Given the description of an element on the screen output the (x, y) to click on. 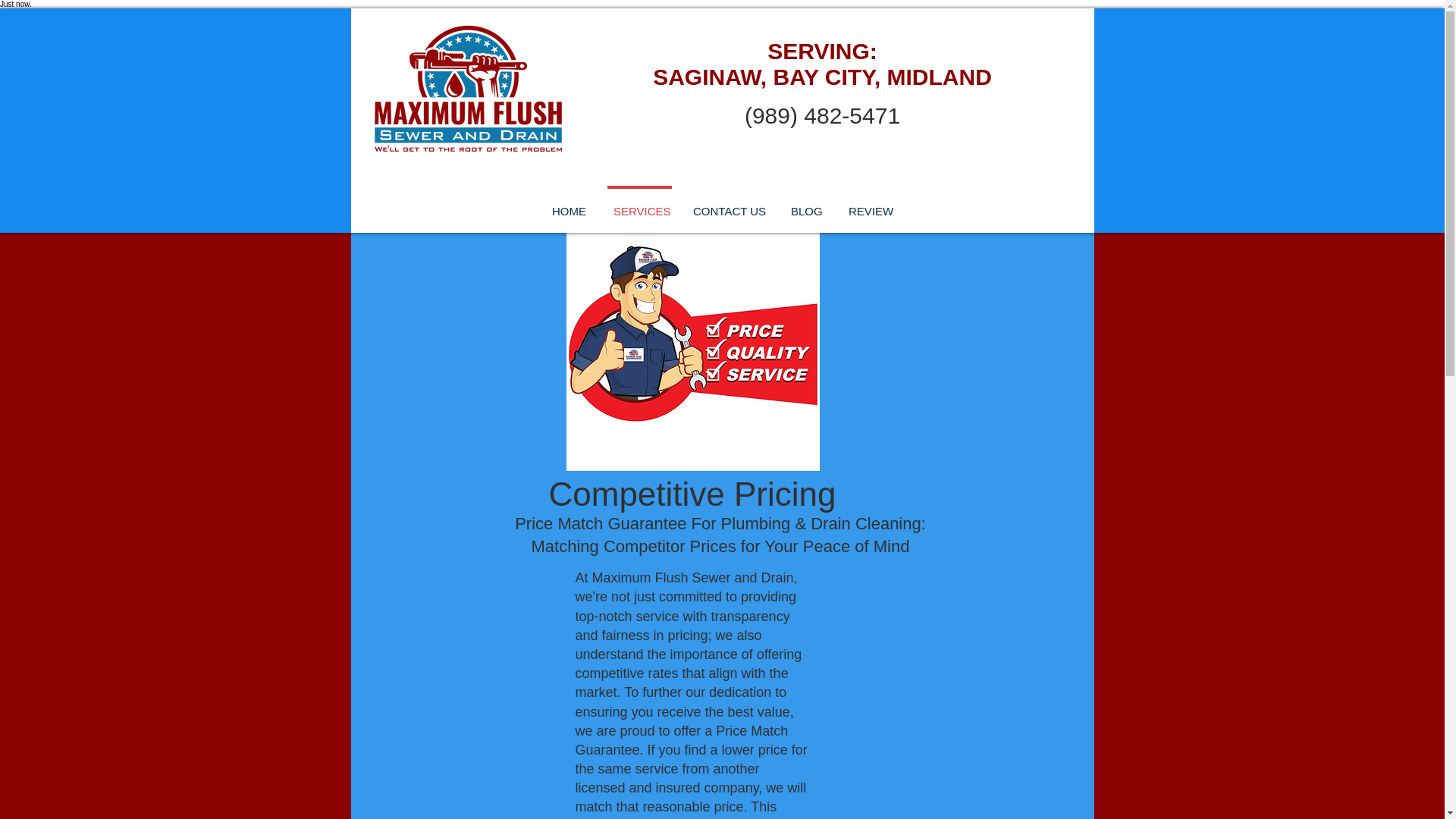
REVIEW (869, 204)
plumbing services near saginaw Michigan (467, 88)
HOME (568, 204)
CONTACT US (728, 204)
SERVICES (639, 204)
BLOG (805, 204)
